Given the description of an element on the screen output the (x, y) to click on. 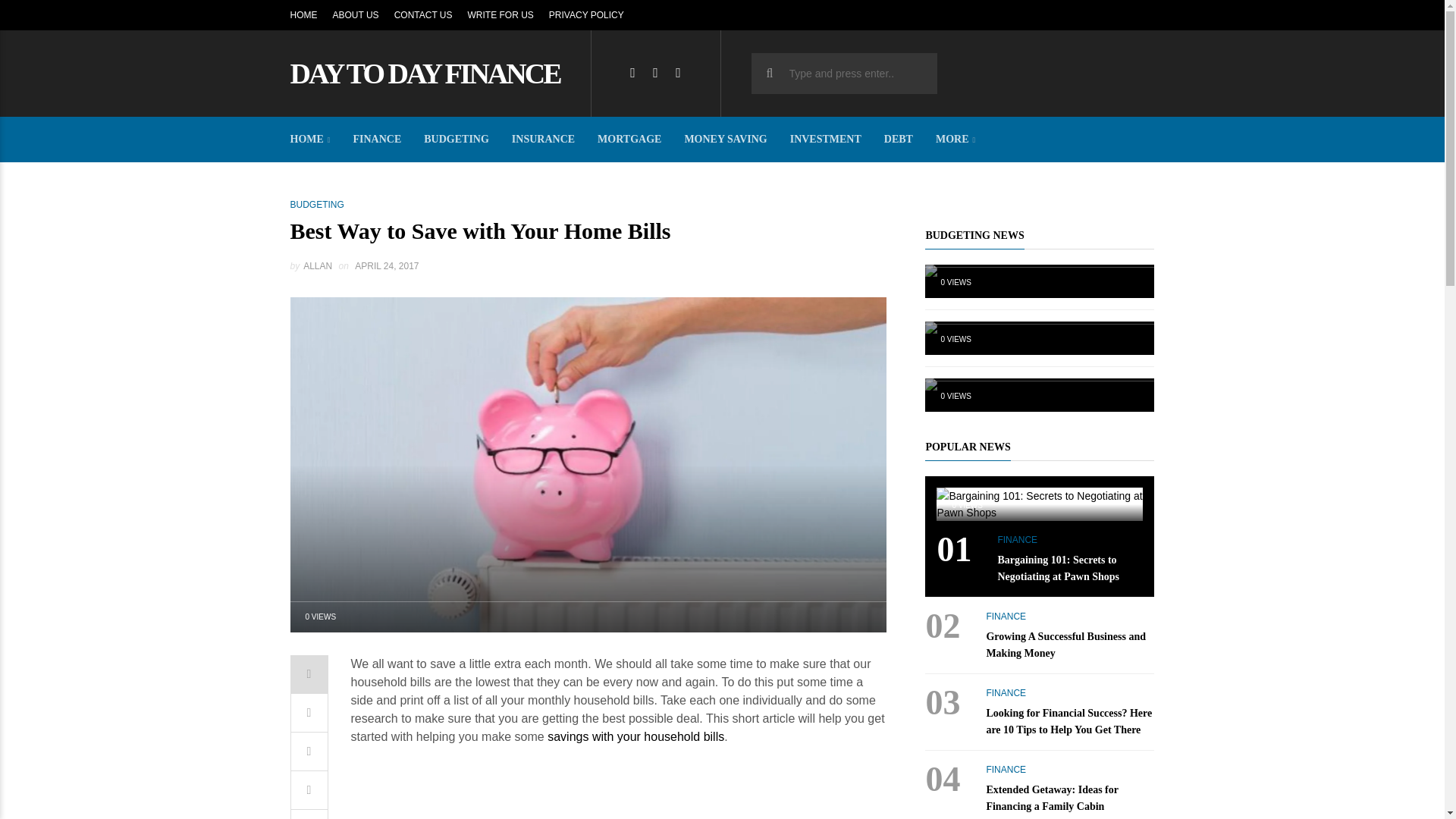
INSURANCE (543, 139)
ABOUT US (354, 15)
BUDGETING (456, 139)
FINANCE (377, 139)
INVESTMENT (825, 139)
MONEY SAVING (725, 139)
WRITE FOR US (500, 15)
CONTACT US (423, 15)
BUDGETING (316, 204)
DAY TO DAY FINANCE (424, 73)
PRIVACY POLICY (586, 15)
MORTGAGE (628, 139)
Best Way to Save with Your Home Bills (587, 463)
HOME (303, 15)
Posts by Allan (316, 266)
